Given the description of an element on the screen output the (x, y) to click on. 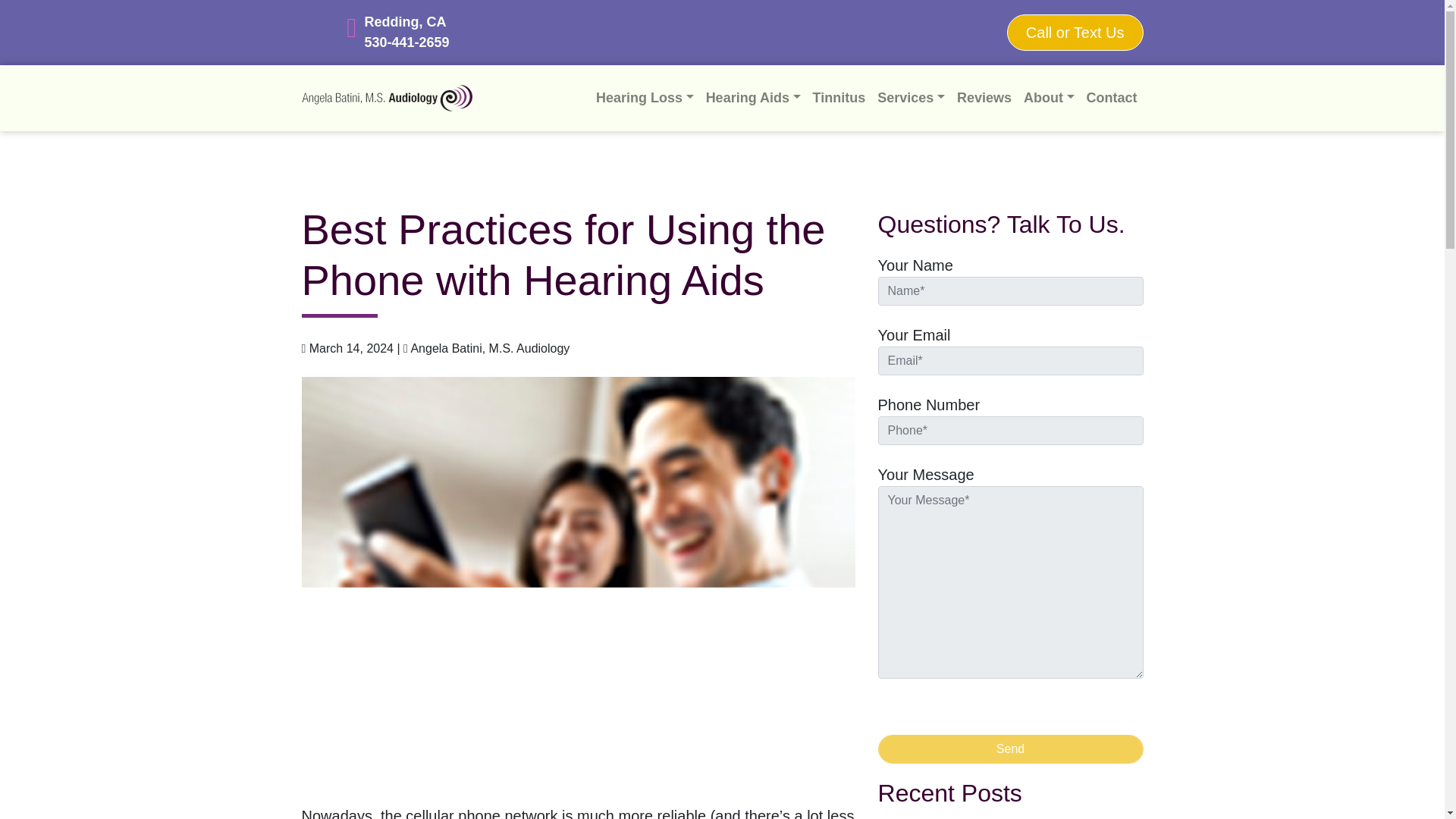
Hearing Aids (753, 97)
Reviews (983, 97)
Redding, CA (407, 22)
About (1048, 97)
Contact (1111, 97)
Call or Text Us (1074, 32)
Send (1009, 748)
Services (910, 97)
Tinnitus (839, 97)
Send (1009, 748)
